Given the description of an element on the screen output the (x, y) to click on. 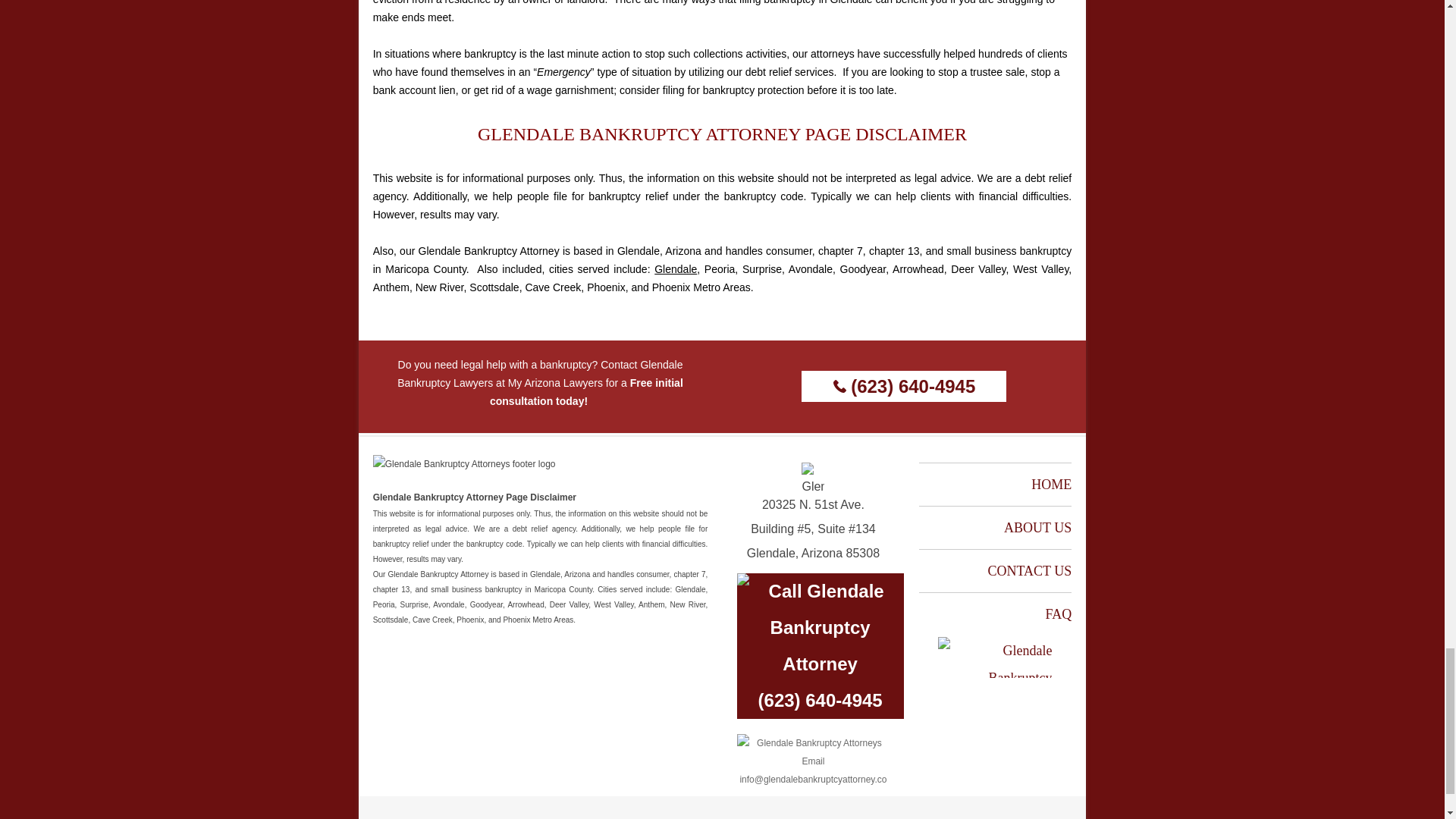
FAQ (1058, 613)
HOME (1050, 484)
ABOUT US (1037, 527)
CONTACT US (1029, 570)
Glendale (675, 268)
